Given the description of an element on the screen output the (x, y) to click on. 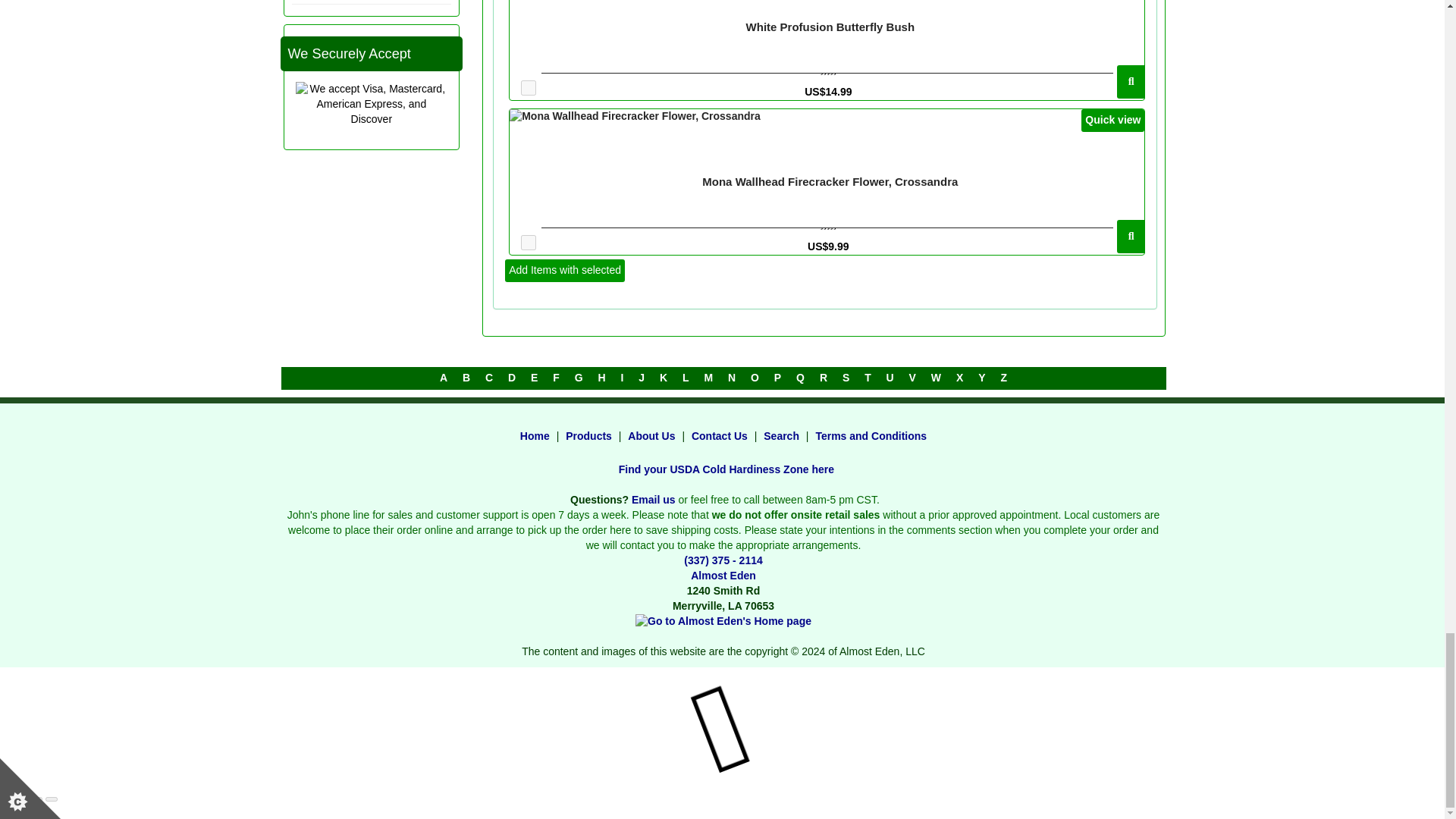
Add Items with selected (564, 270)
12478 (528, 242)
735 (528, 87)
